Given the description of an element on the screen output the (x, y) to click on. 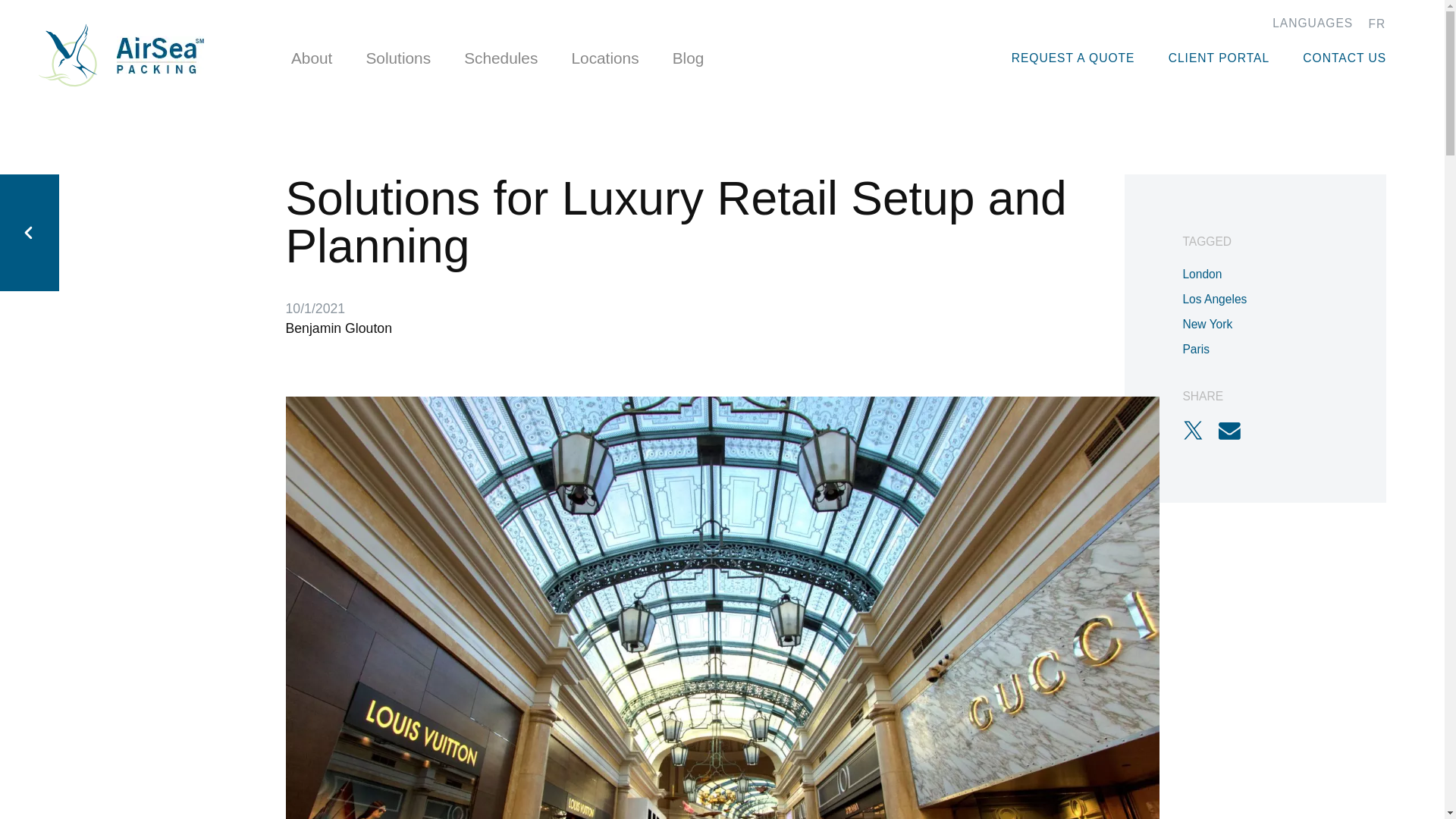
Locations (604, 58)
FR (1377, 23)
Solutions (397, 58)
Share via Email (1236, 431)
About (311, 58)
Share on Twitter (1200, 431)
Schedules (501, 58)
